Given the description of an element on the screen output the (x, y) to click on. 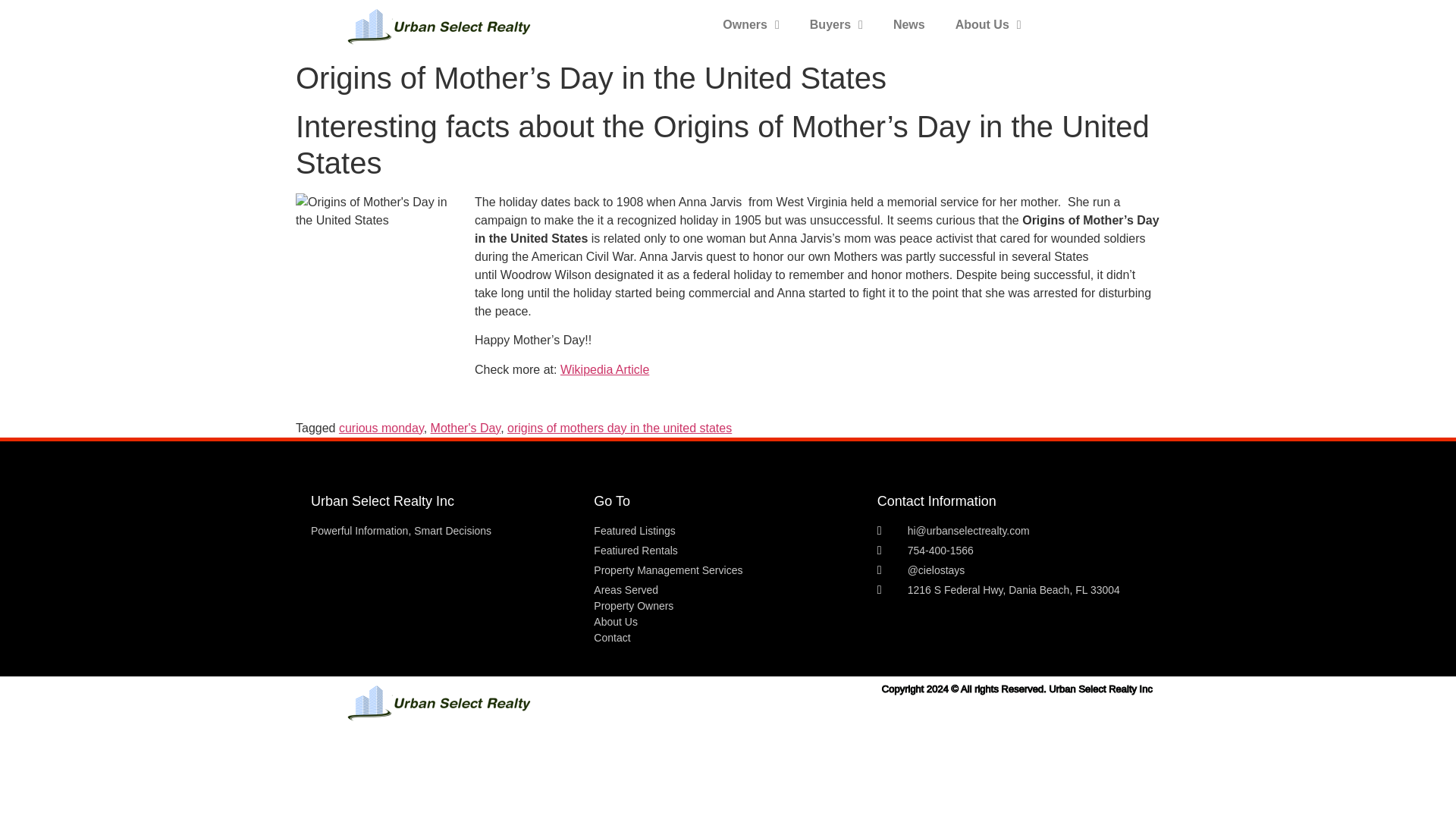
curious monday (381, 427)
About Us (988, 24)
Wikipedia Article (604, 369)
Mother's Day (465, 427)
Buyers (835, 24)
Owners (750, 24)
origins of mothers day in the united states (619, 427)
News (908, 24)
